Given the description of an element on the screen output the (x, y) to click on. 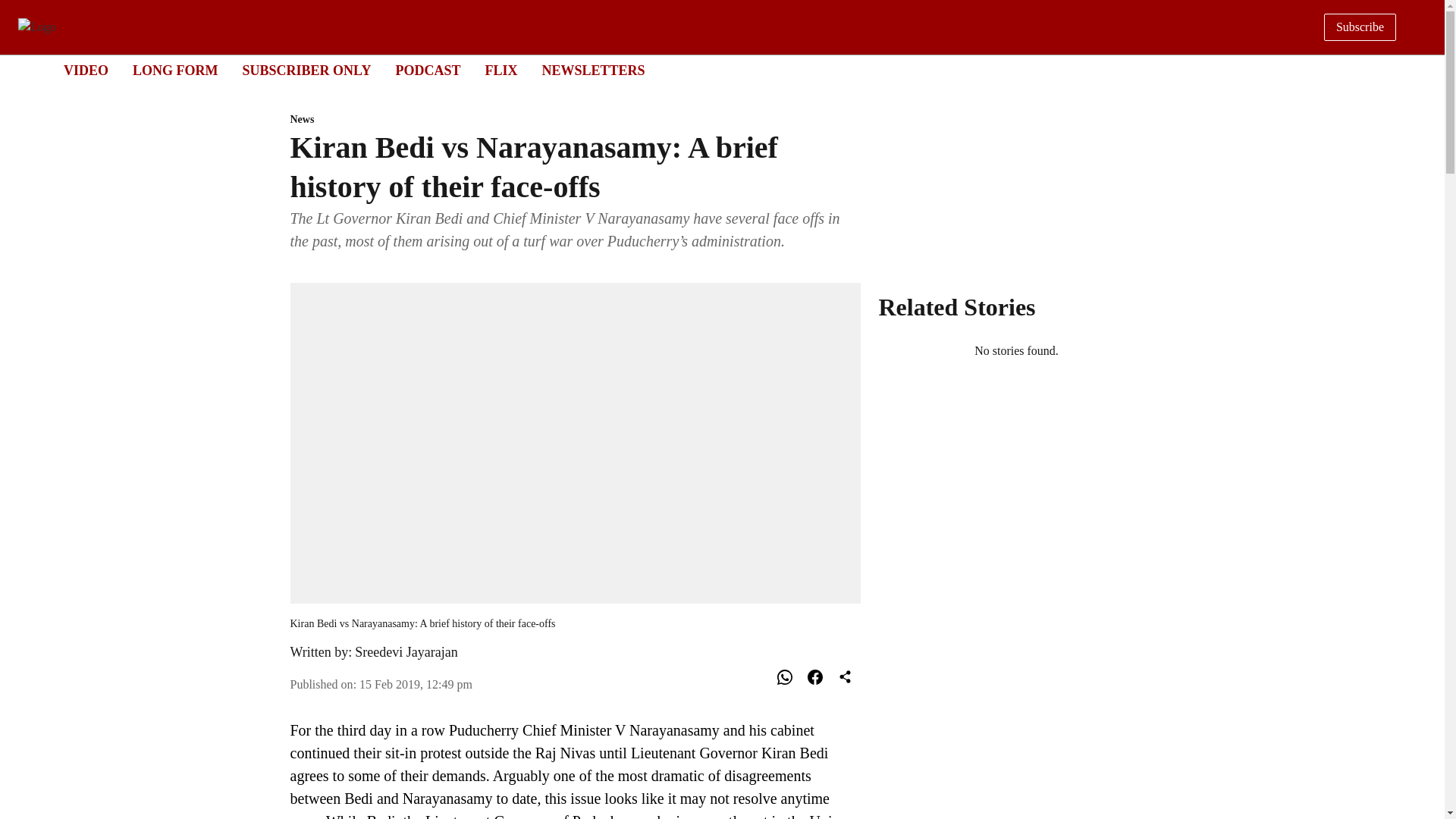
News (574, 119)
FLIX (707, 70)
NEWSLETTERS (500, 70)
PODCAST (593, 70)
Sreedevi Jayarajan (427, 70)
SUBSCRIBER ONLY (406, 652)
LONG FORM (307, 70)
VIDEO (175, 70)
2019-02-15 12:49 (85, 70)
